Given the description of an element on the screen output the (x, y) to click on. 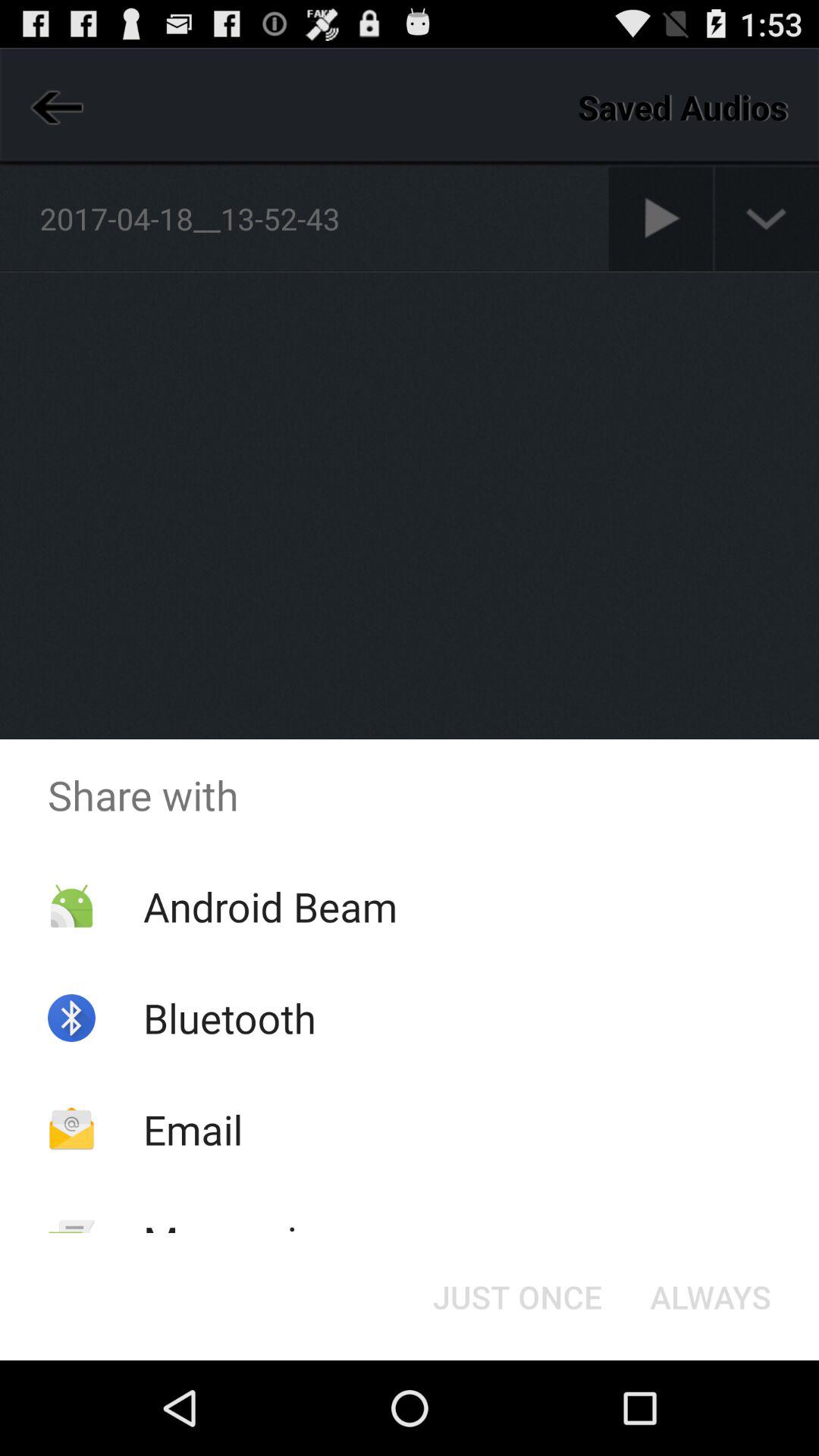
select button to the right of the just once button (710, 1296)
